Given the description of an element on the screen output the (x, y) to click on. 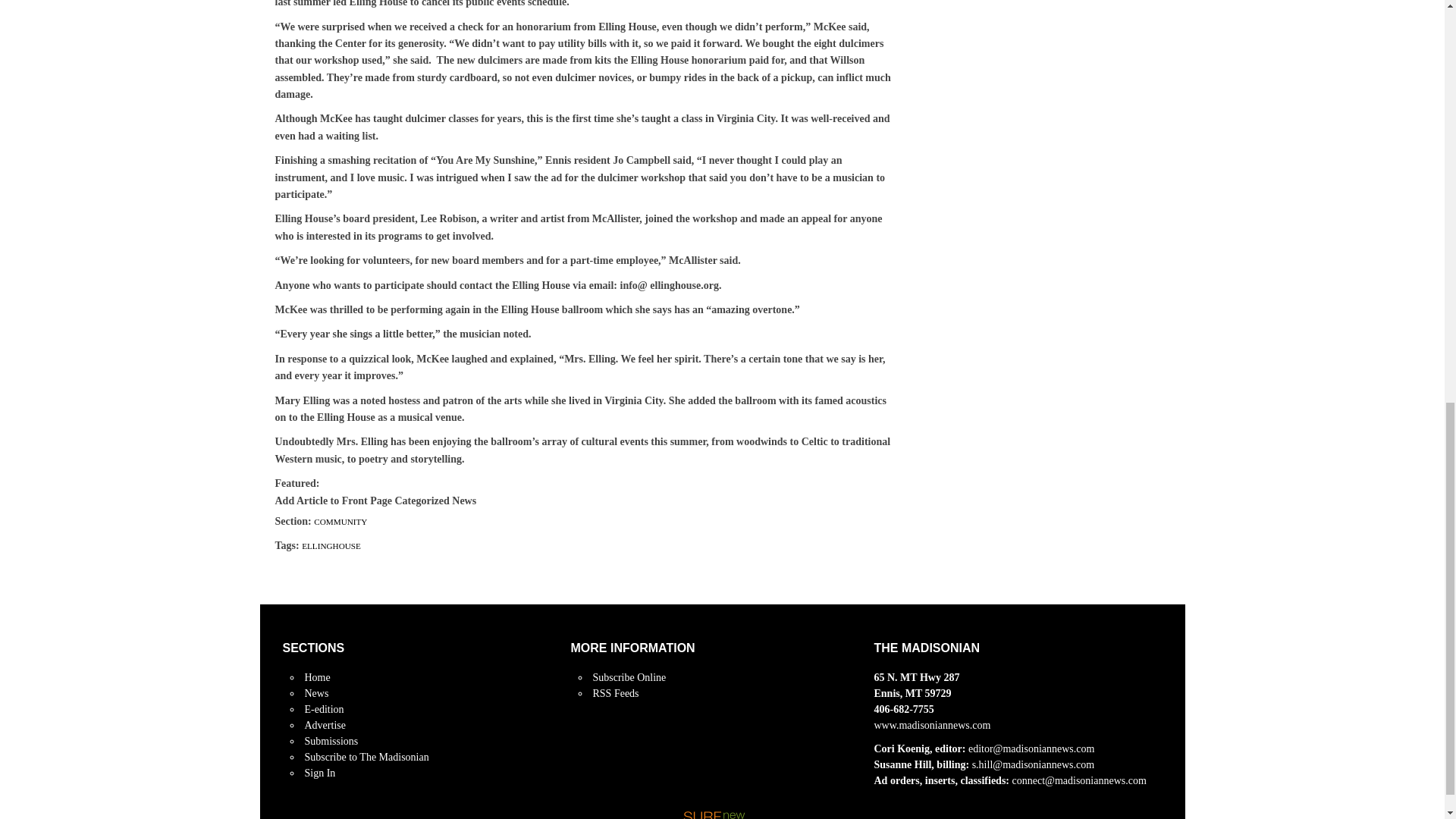
Home (317, 677)
ELLINGHOUSE (331, 545)
E-edition (323, 708)
COMMUNITY (340, 521)
News (316, 693)
News (316, 693)
Advertise (325, 725)
